Given the description of an element on the screen output the (x, y) to click on. 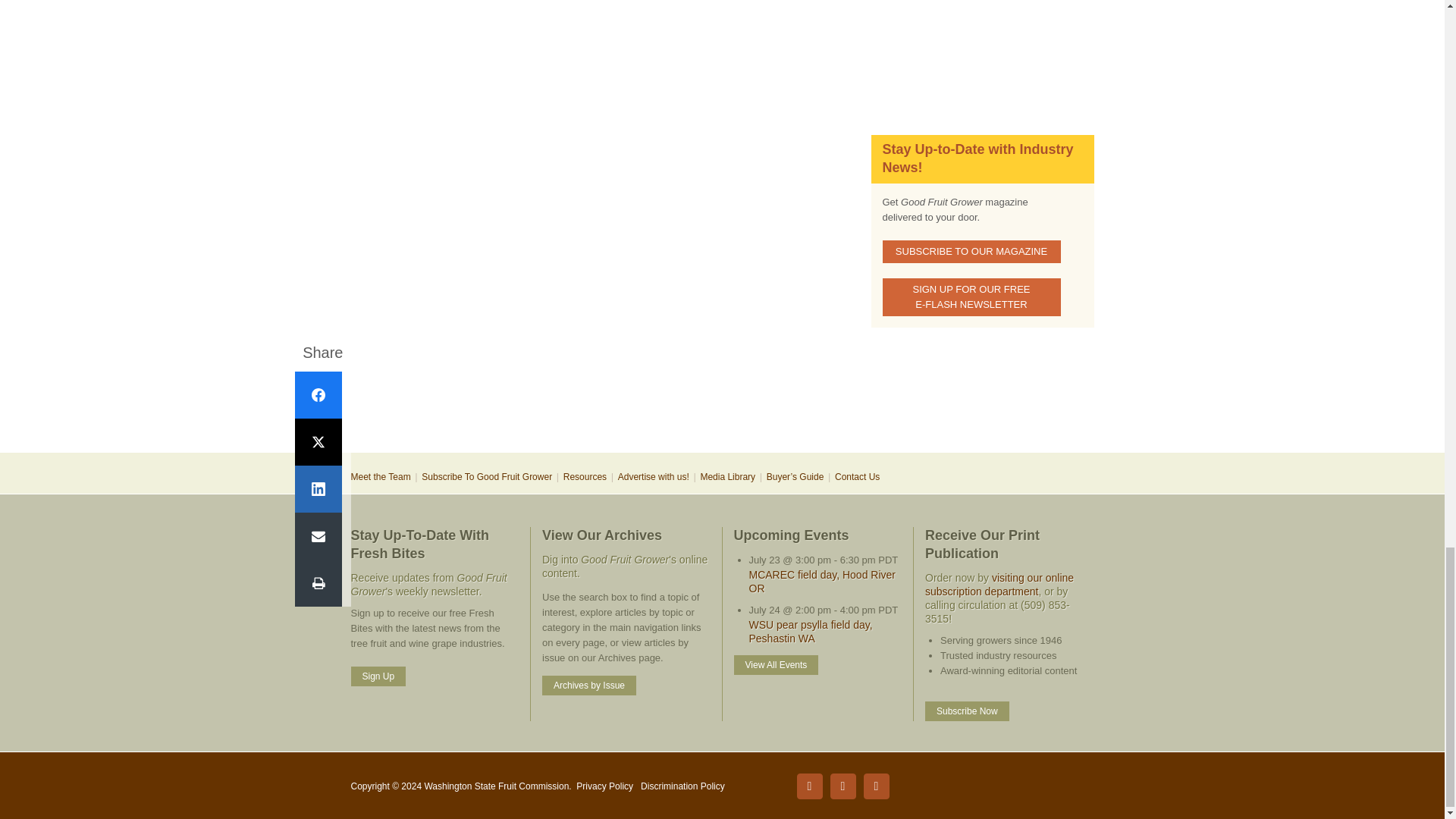
3rd party ad content (721, 402)
3rd party ad content (981, 50)
